Given the description of an element on the screen output the (x, y) to click on. 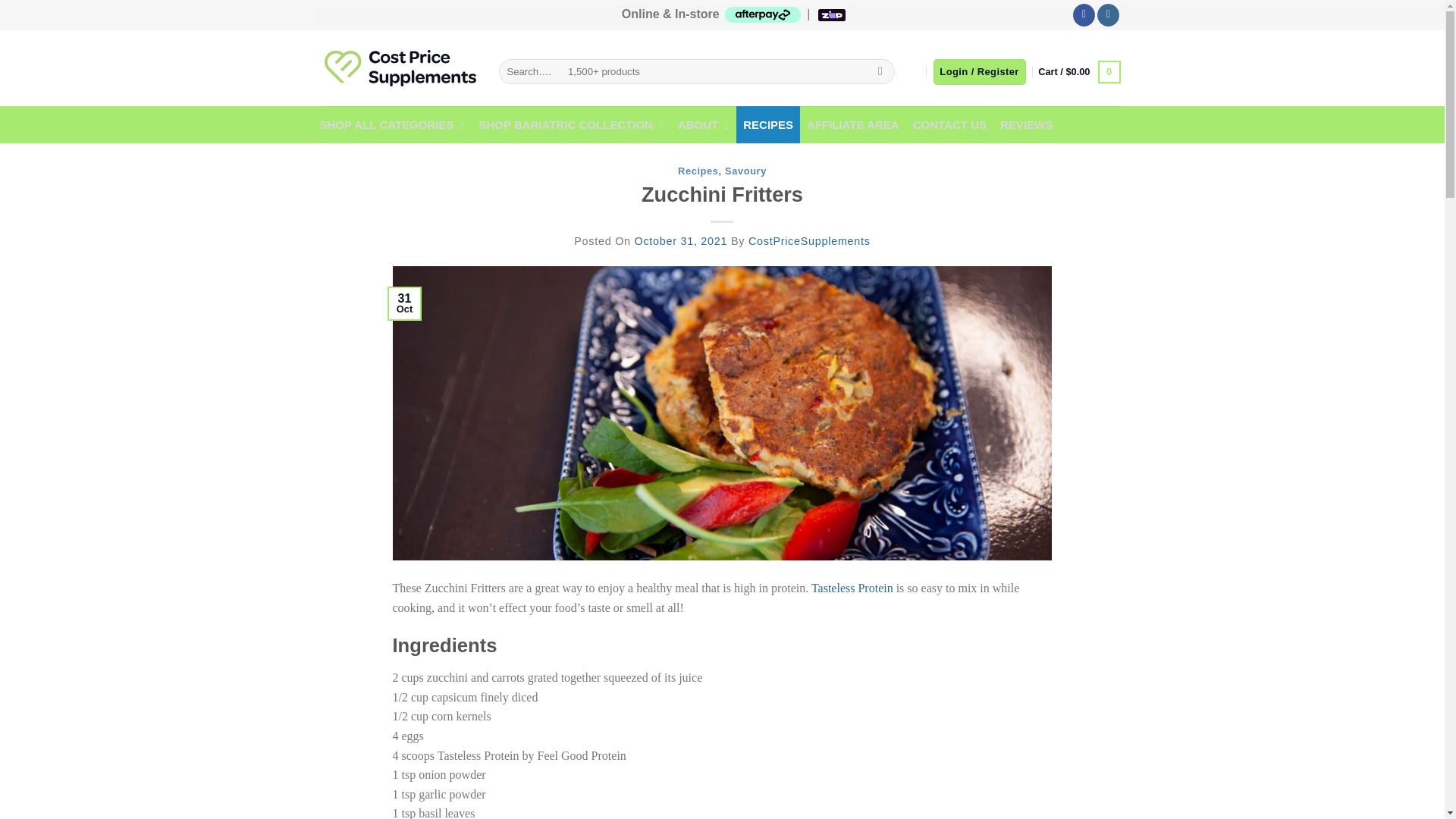
Follow on Facebook (1083, 15)
Search (880, 71)
Cart (1078, 71)
SHOP ALL CATEGORIES (392, 125)
Follow on Instagram (1108, 15)
